Given the description of an element on the screen output the (x, y) to click on. 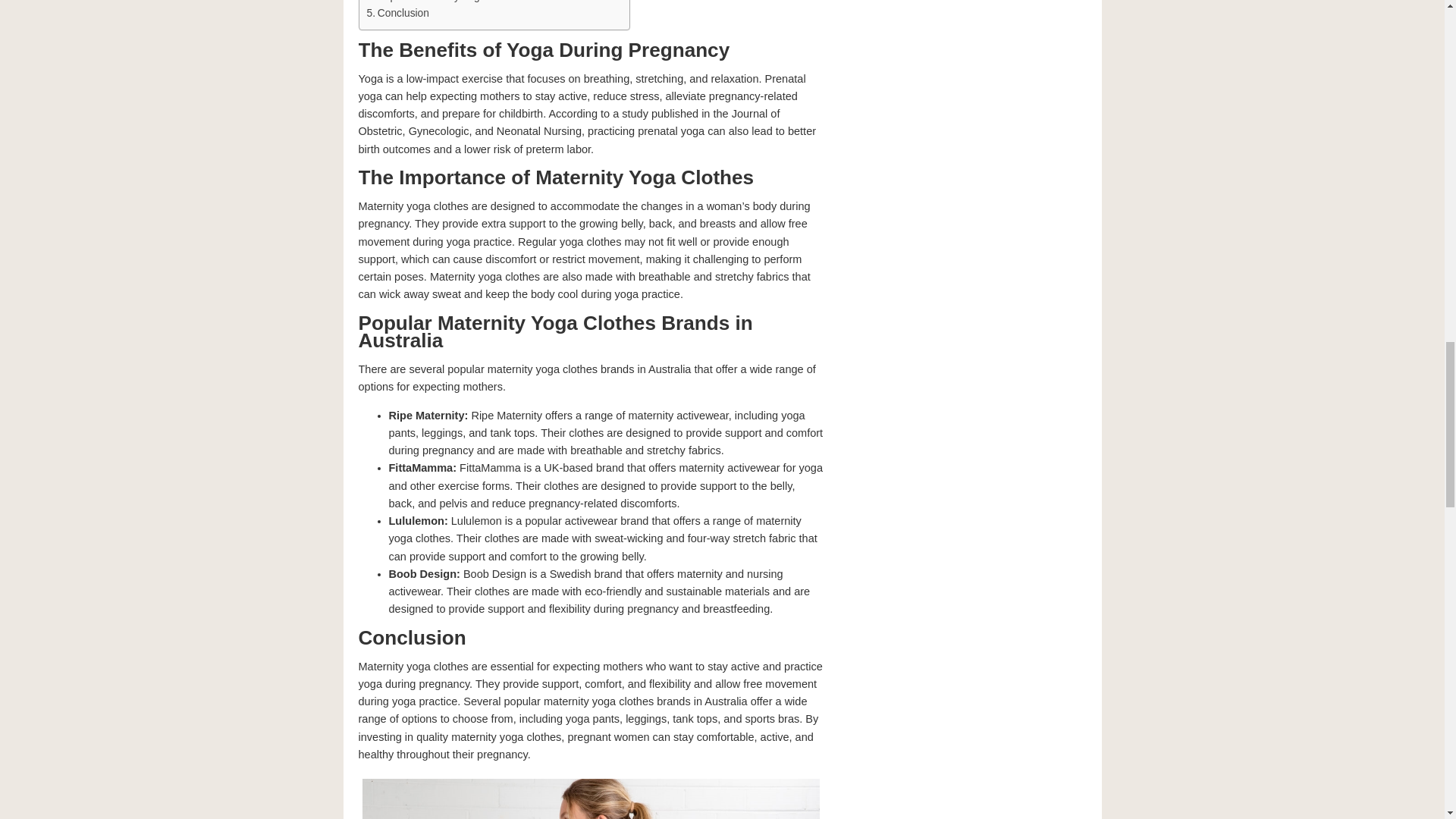
Conclusion (397, 13)
Conclusion (397, 13)
Popular Maternity Yoga Clothes Brands in Australia (490, 2)
Popular Maternity Yoga Clothes Brands in Australia (490, 2)
Maternity Yoga Clothes In Australia 3 (590, 796)
